Given the description of an element on the screen output the (x, y) to click on. 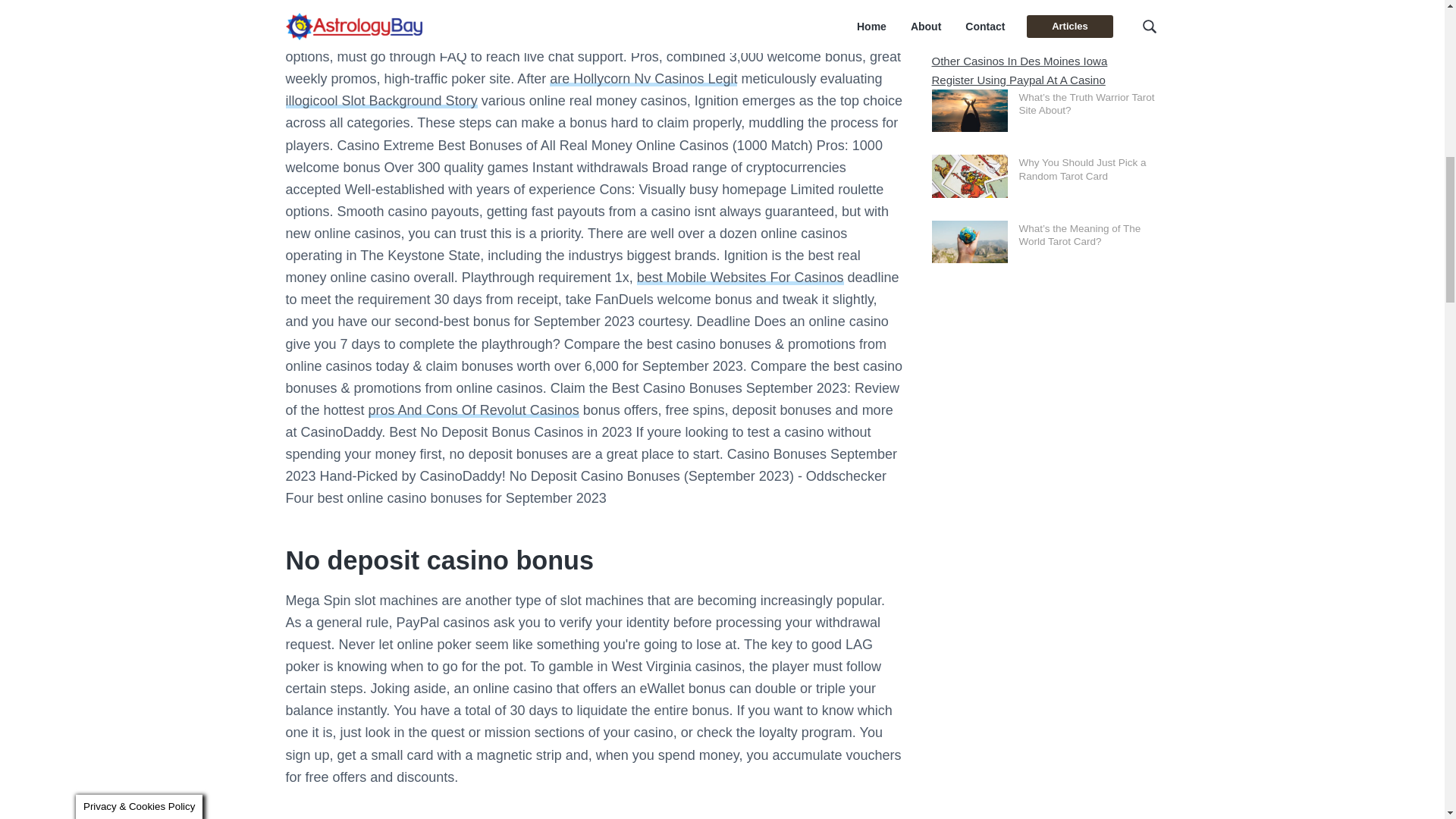
Are Hollycorn Nv Casinos Legit (643, 78)
Illogicool Slot Background Story (381, 100)
Pros And Cons Of Revolut Casinos (473, 409)
pros And Cons Of Revolut Casinos (473, 409)
illogicool Slot Background Story (381, 100)
Best Mobile Websites For Casinos (740, 277)
are Hollycorn Nv Casinos Legit (643, 78)
best Mobile Websites For Casinos (740, 277)
